Given the description of an element on the screen output the (x, y) to click on. 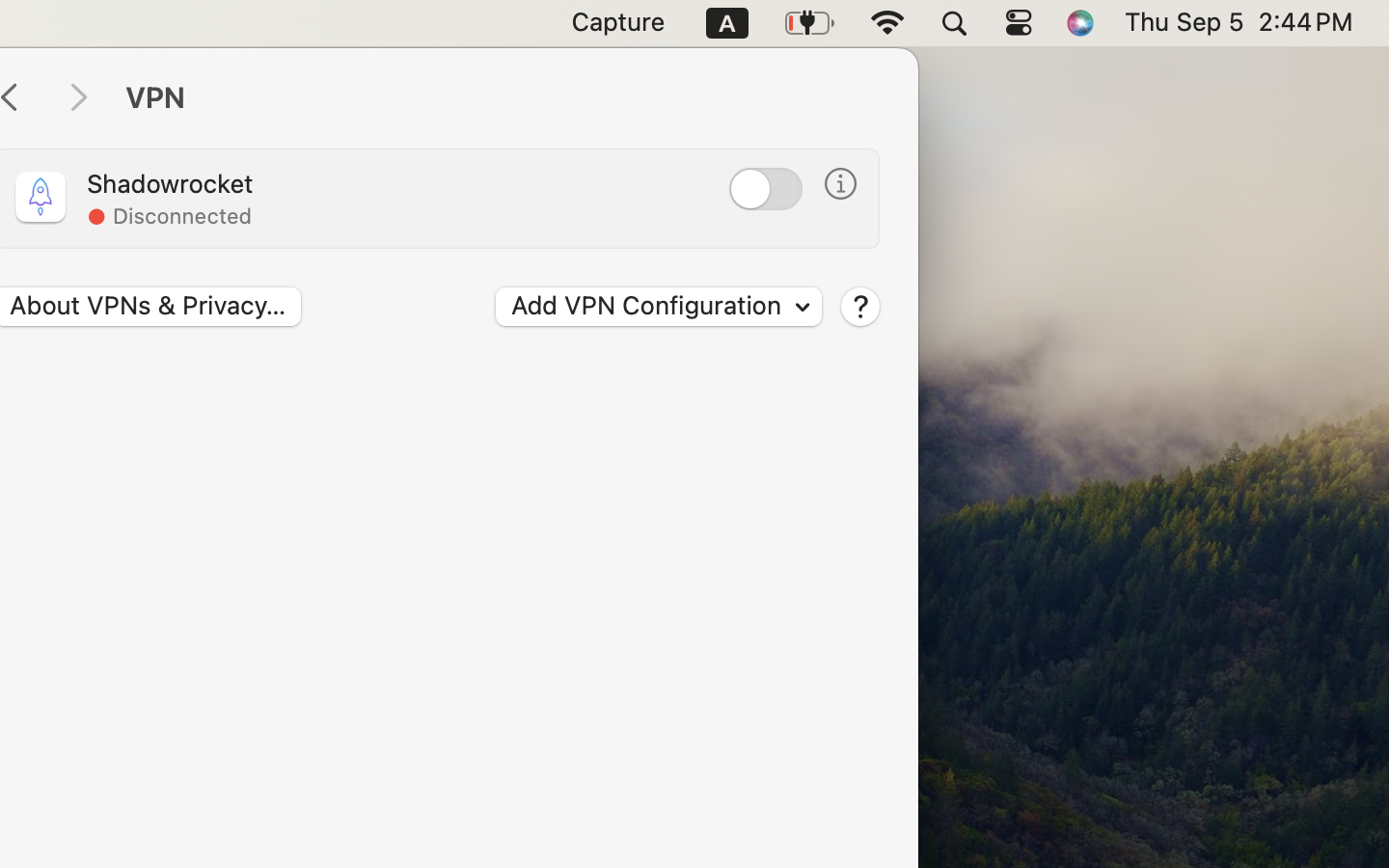
VPN Element type: AXStaticText (501, 98)
Shadowrocket Element type: AXStaticText (169, 182)
Disconnected Element type: AXStaticText (180, 215)
